Given the description of an element on the screen output the (x, y) to click on. 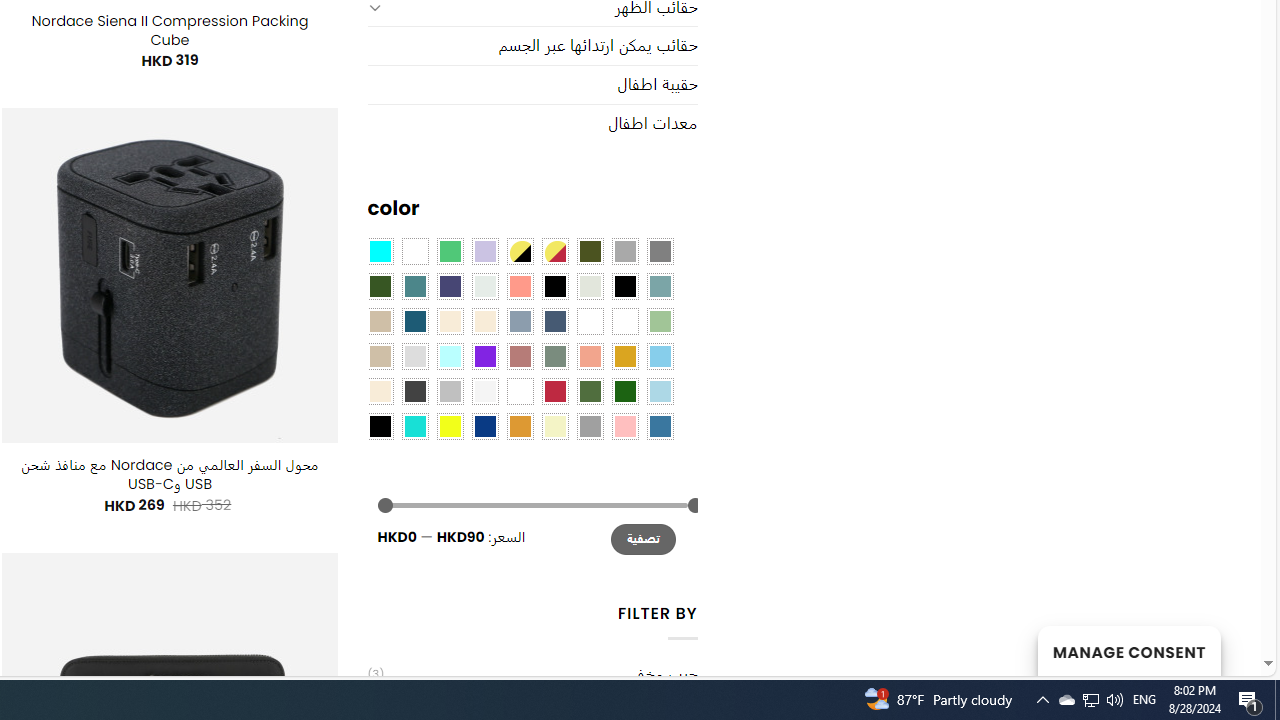
Yellow-Red (554, 251)
Rose (519, 355)
Clear (414, 251)
Light Purple (484, 251)
Purple (484, 355)
Khaki (624, 321)
